Given the description of an element on the screen output the (x, y) to click on. 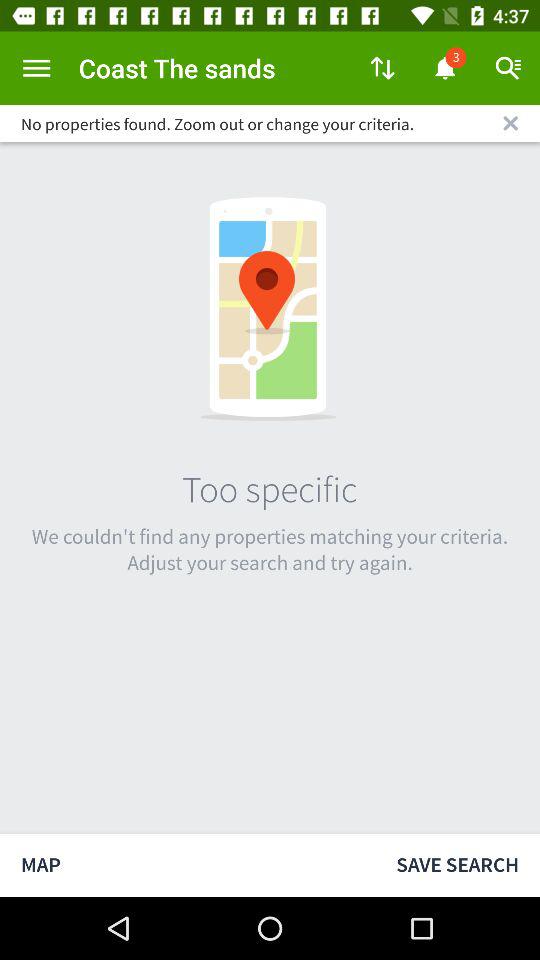
swipe to map (187, 864)
